Given the description of an element on the screen output the (x, y) to click on. 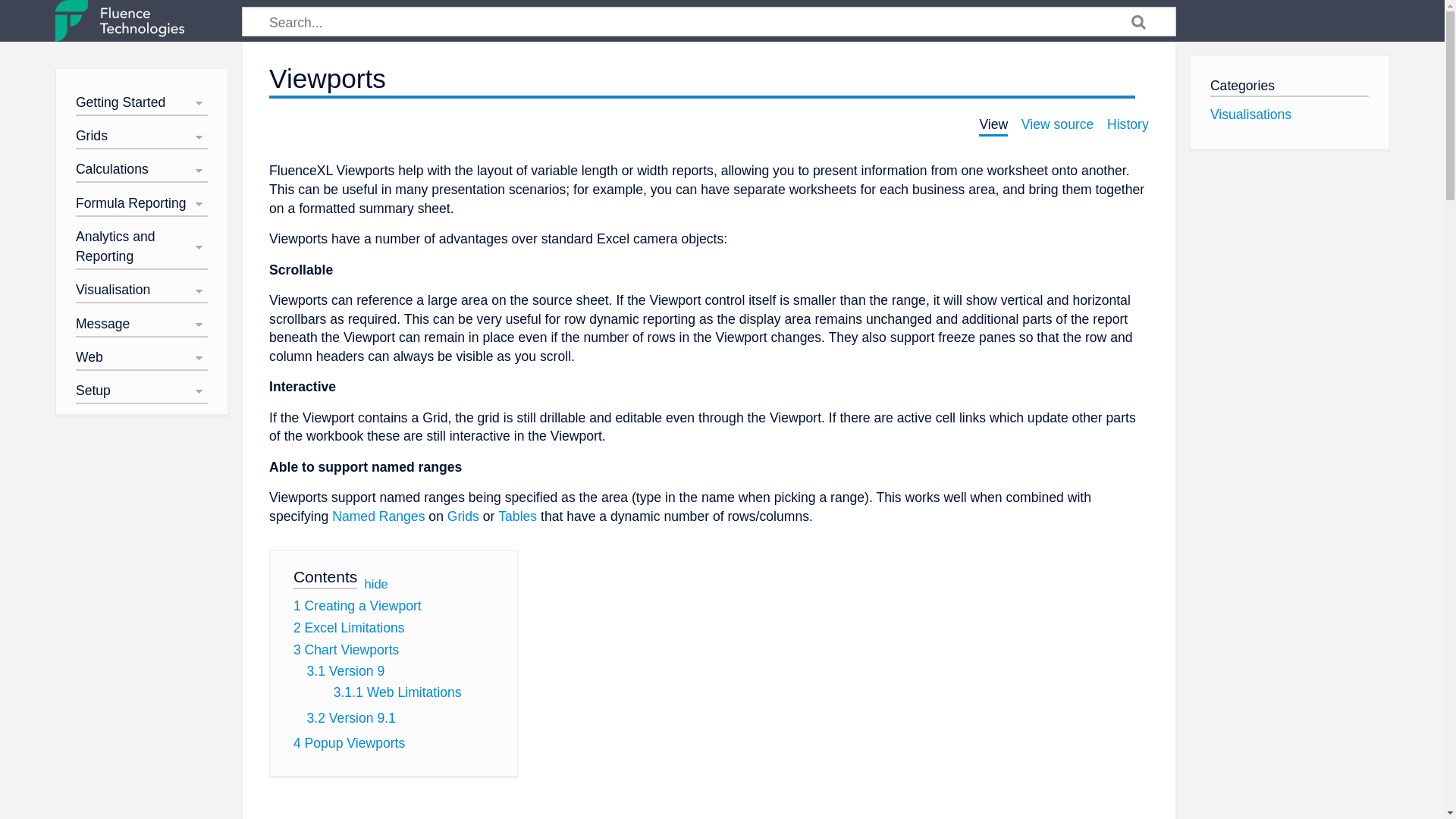
Tables (517, 516)
Go (1139, 23)
Go (1139, 23)
Visit the main page (119, 20)
Go (1139, 23)
Grids (462, 516)
Named Ranges (378, 516)
Go to a page with this exact name if it exists (1139, 23)
